Given the description of an element on the screen output the (x, y) to click on. 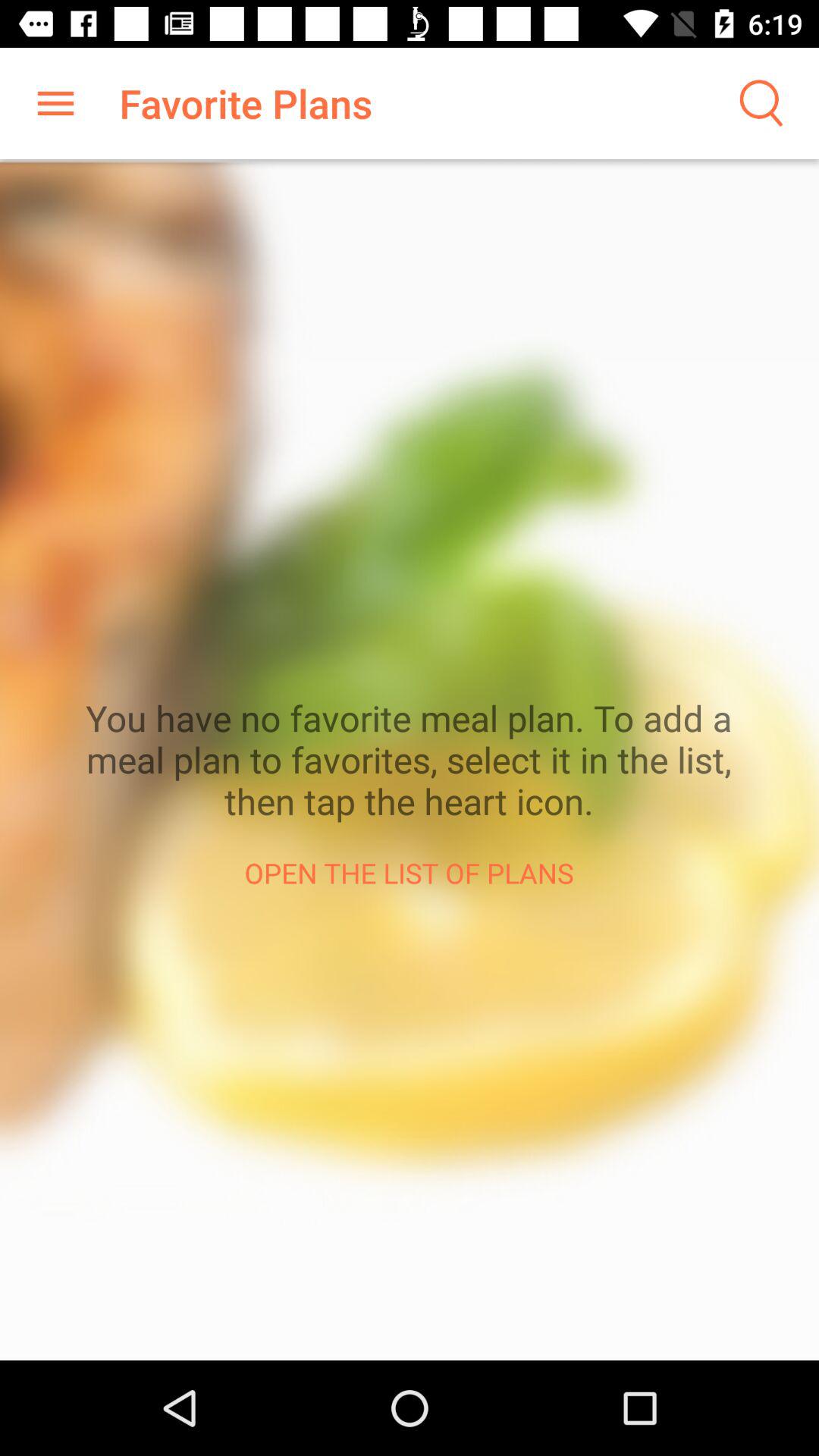
look for more (759, 103)
